Given the description of an element on the screen output the (x, y) to click on. 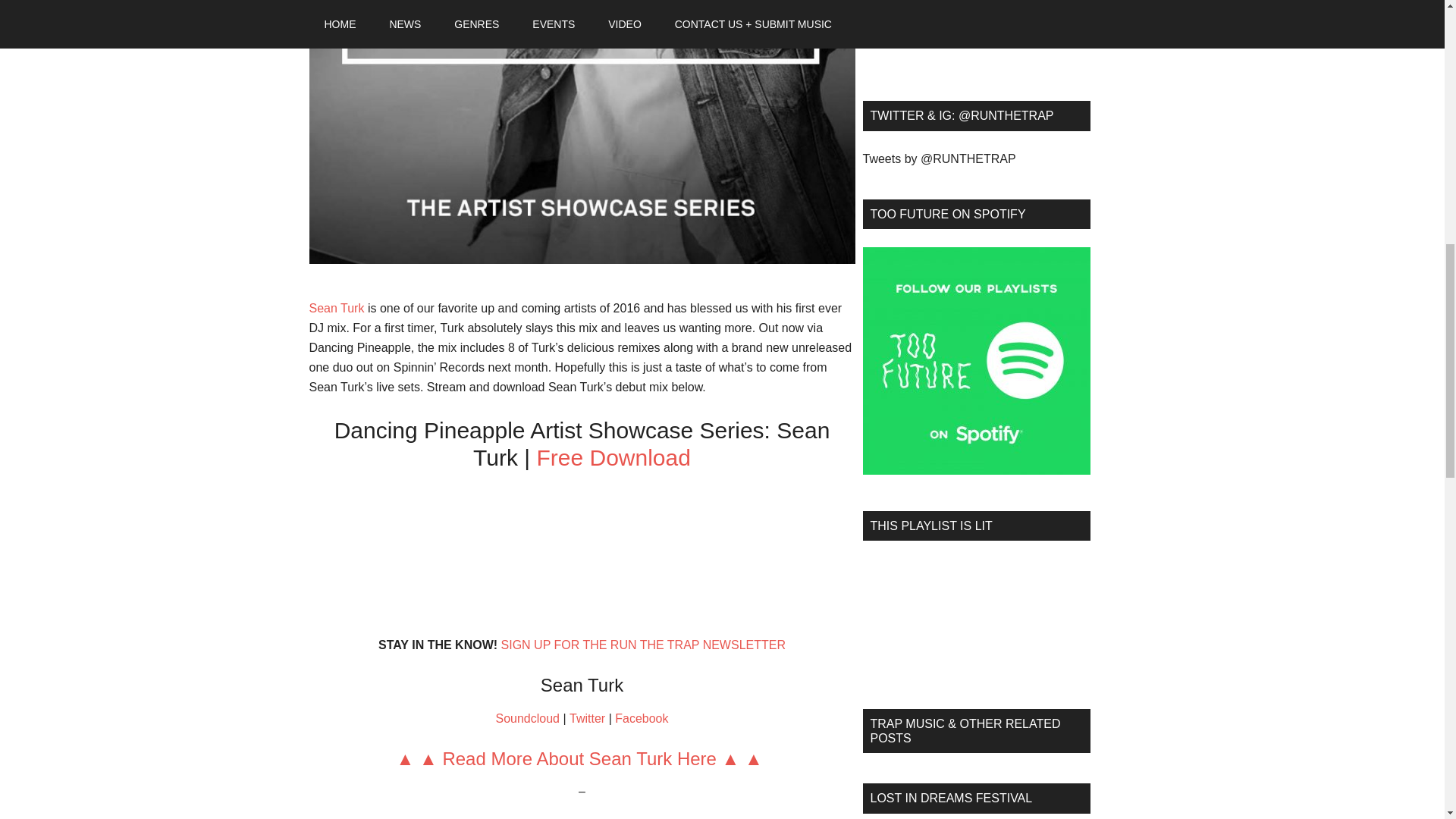
Free Download (612, 457)
Soundcloud (528, 717)
Facebook (641, 717)
Sean Turk (336, 308)
 SIGN UP FOR THE RUN THE TRAP NEWSLETTER (641, 644)
Twitter (587, 717)
